Given the description of an element on the screen output the (x, y) to click on. 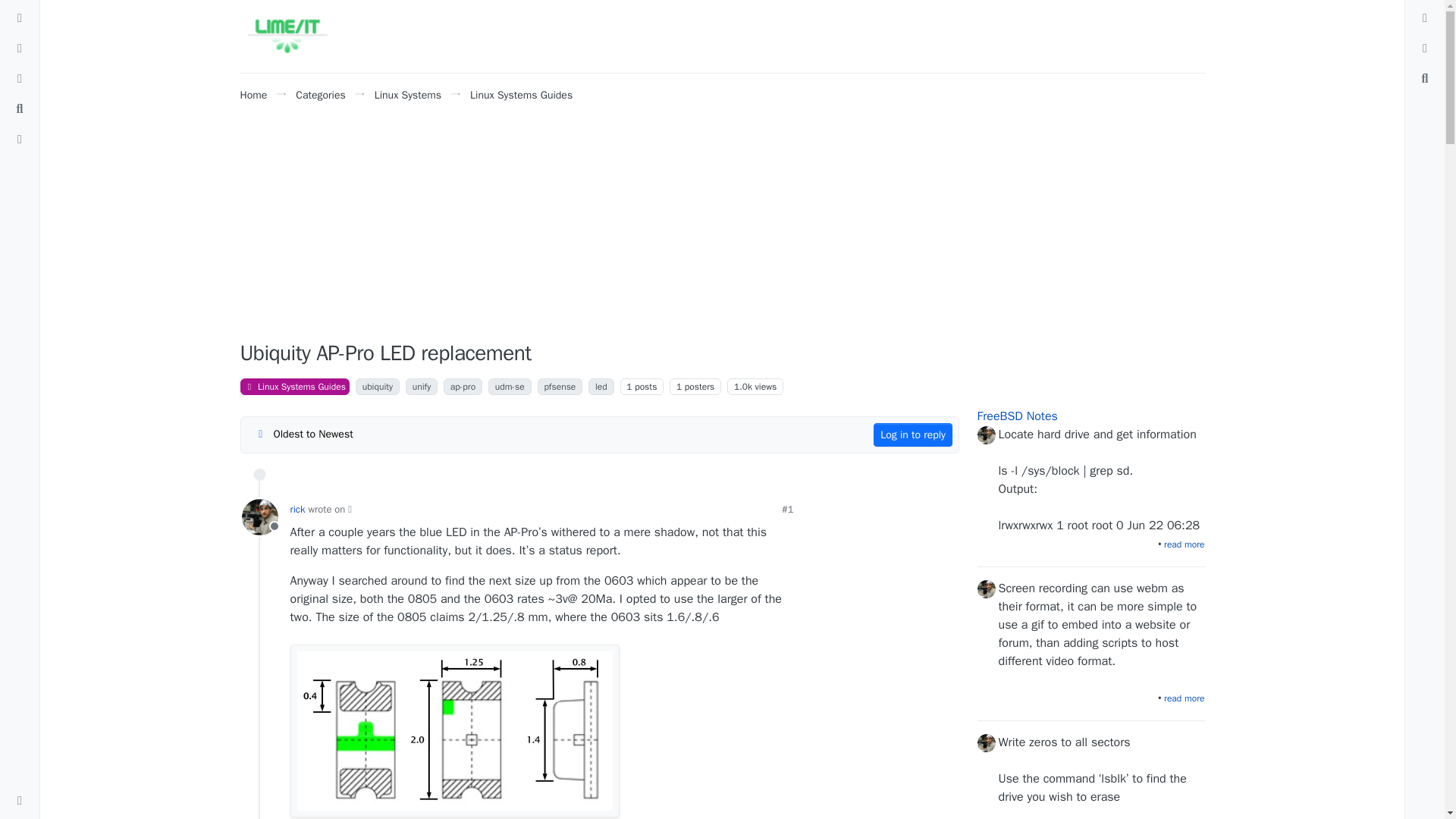
Linux Systems Guides (294, 386)
Linux Systems Guides (521, 94)
Linux Systems (407, 94)
Search (19, 109)
Oldest to Newest (303, 434)
unify (422, 386)
rick (259, 516)
pfsense (560, 386)
Home (253, 94)
Categories (320, 94)
1 (679, 386)
rick (296, 509)
Tags (19, 48)
Expand (19, 800)
